Given the description of an element on the screen output the (x, y) to click on. 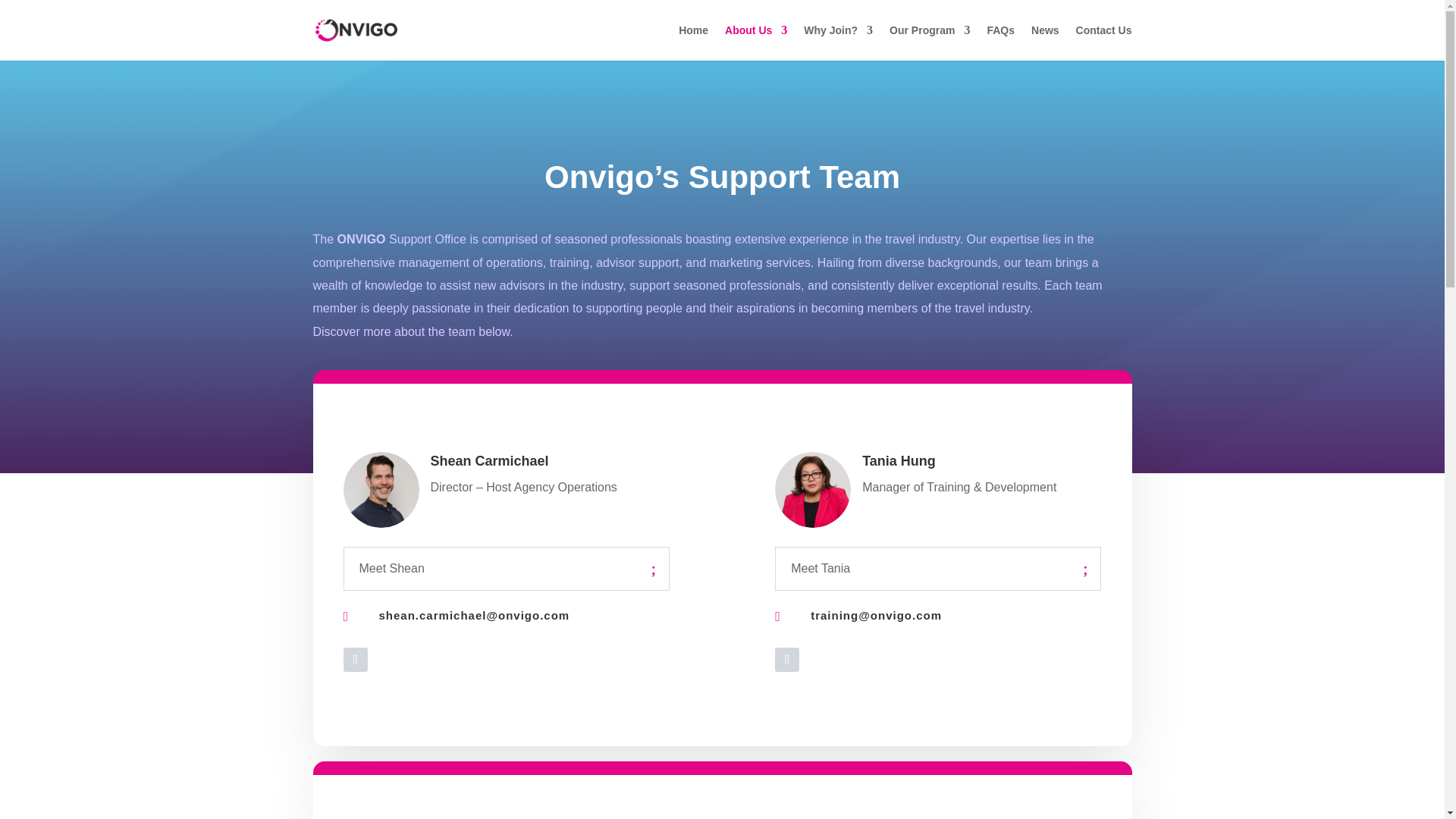
Follow on LinkedIn (354, 659)
Our Program (929, 42)
Contact Us (1103, 42)
About Us (756, 42)
Why Join? (837, 42)
Follow on LinkedIn (786, 659)
